Given the description of an element on the screen output the (x, y) to click on. 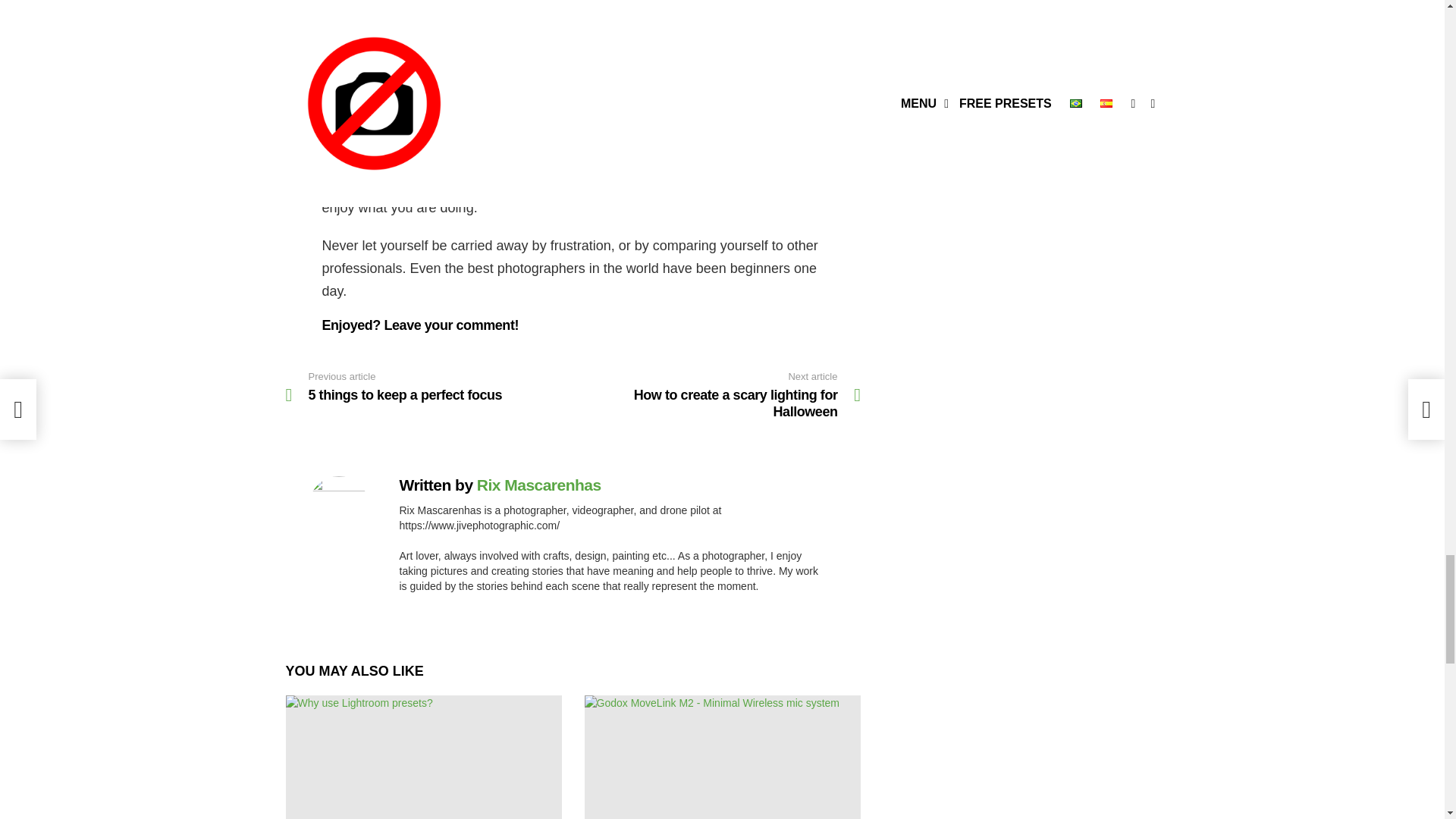
Rix Mascarenhas (539, 484)
Why use Lightroom presets? (422, 757)
Lightroo (716, 395)
